Given the description of an element on the screen output the (x, y) to click on. 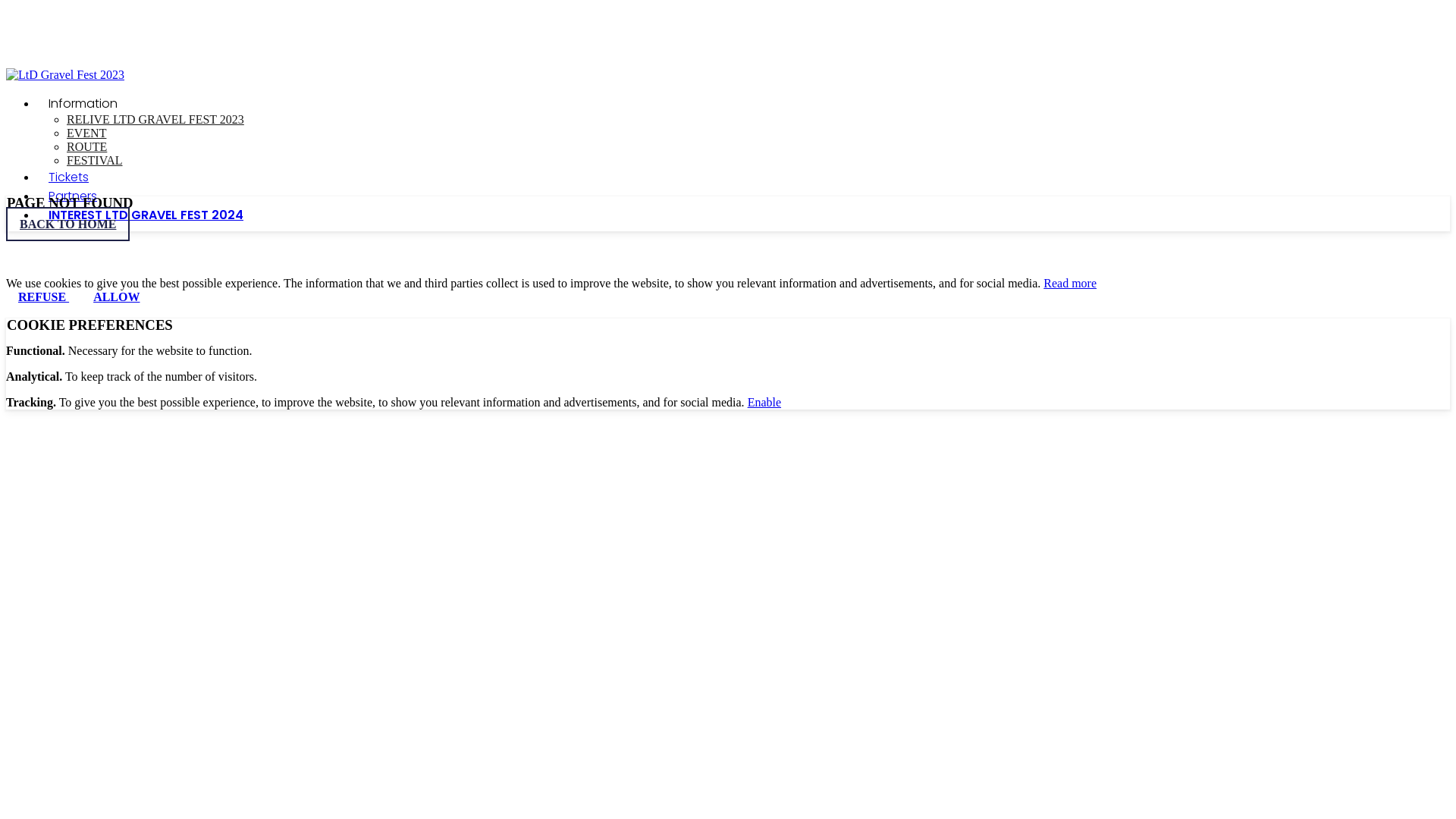
REFUSE Element type: text (43, 296)
Enable Element type: text (764, 401)
BACK TO HOME Element type: text (67, 224)
EVENT Element type: text (86, 132)
ALLOW Element type: text (116, 296)
INTEREST LTD GRAVEL FEST 2024 Element type: text (145, 214)
FESTIVAL Element type: text (94, 159)
Tickets Element type: text (68, 176)
Read more Element type: text (1069, 282)
Partners Element type: text (72, 195)
ROUTE Element type: text (86, 146)
RELIVE LTD GRAVEL FEST 2023 Element type: text (155, 118)
